Given the description of an element on the screen output the (x, y) to click on. 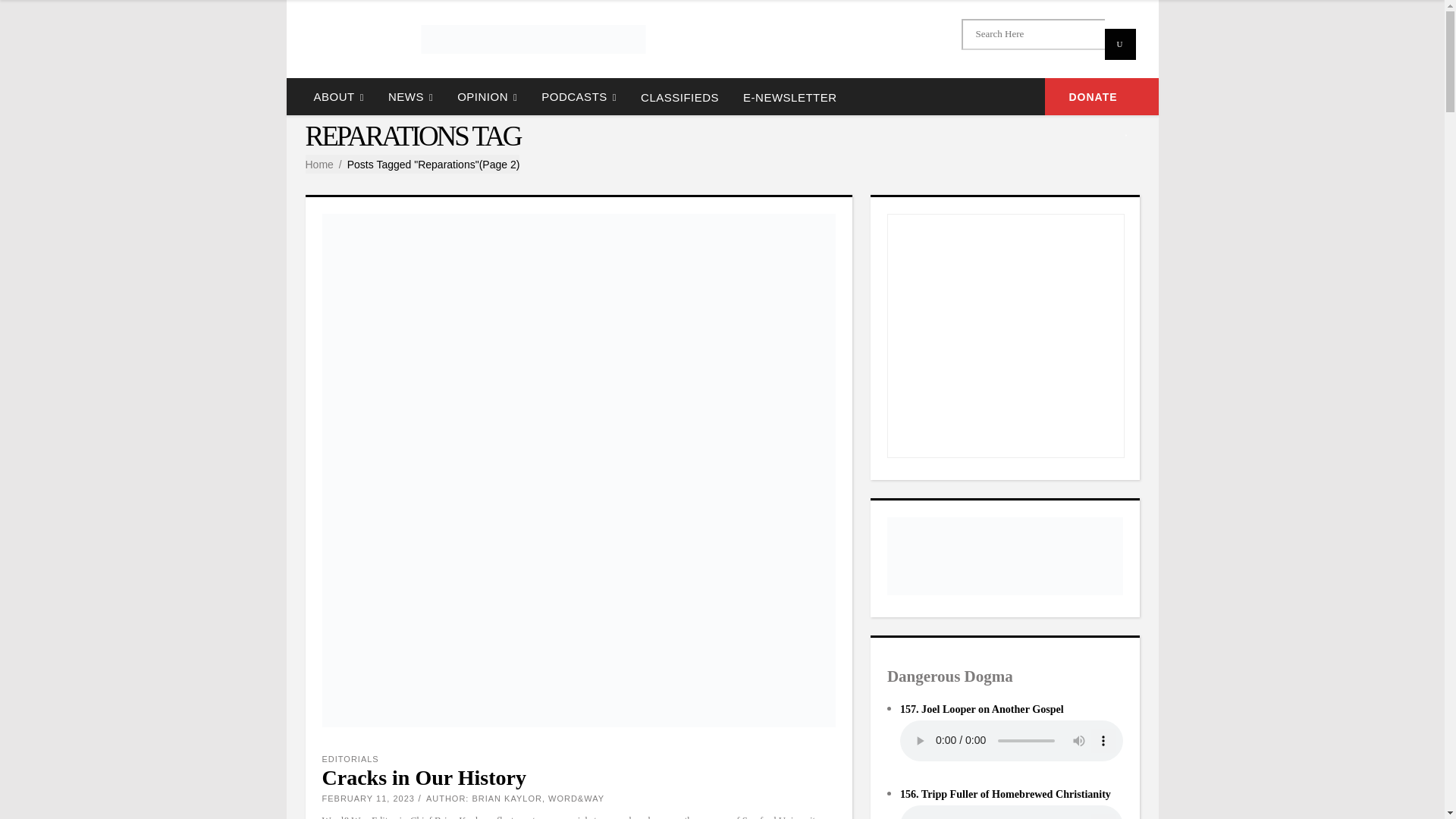
Cracks in Our History (423, 777)
U (1119, 43)
E-NEWSLETTER (789, 96)
OPINION (487, 96)
DONATE (1101, 96)
CLASSIFIEDS (679, 96)
ABOUT (338, 96)
U (1119, 43)
PODCASTS (578, 96)
